Given the description of an element on the screen output the (x, y) to click on. 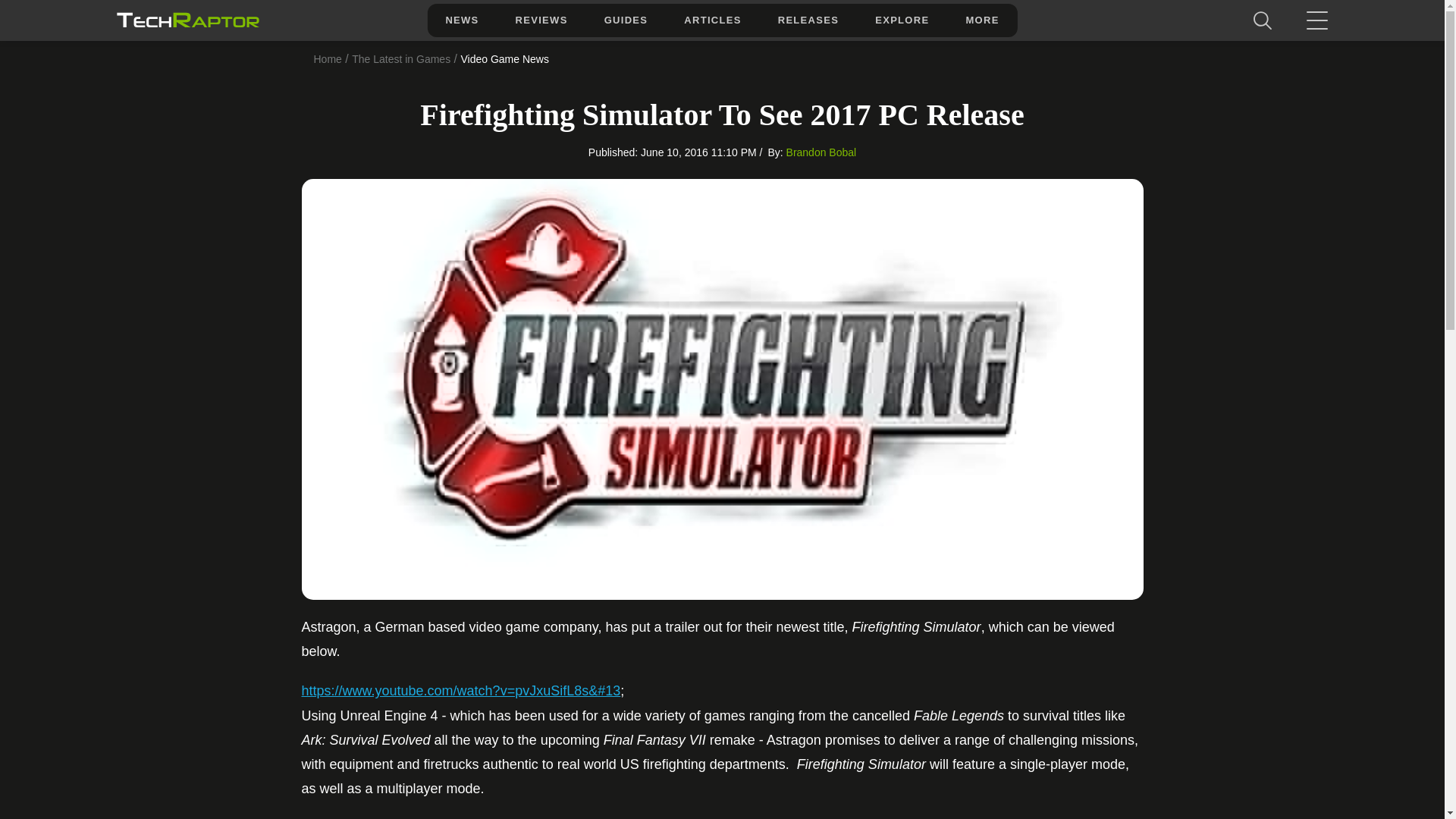
NEWS (461, 20)
REVIEWS (541, 20)
TechRaptor Home (187, 20)
ARTICLES (711, 20)
GUIDES (626, 20)
RELEASES (807, 20)
